Given the description of an element on the screen output the (x, y) to click on. 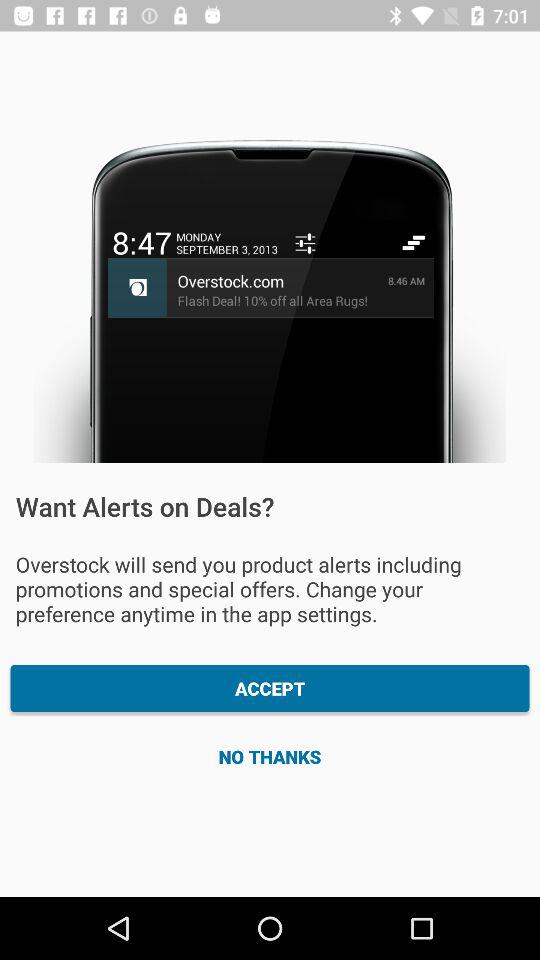
choose the icon below the accept item (269, 756)
